Given the description of an element on the screen output the (x, y) to click on. 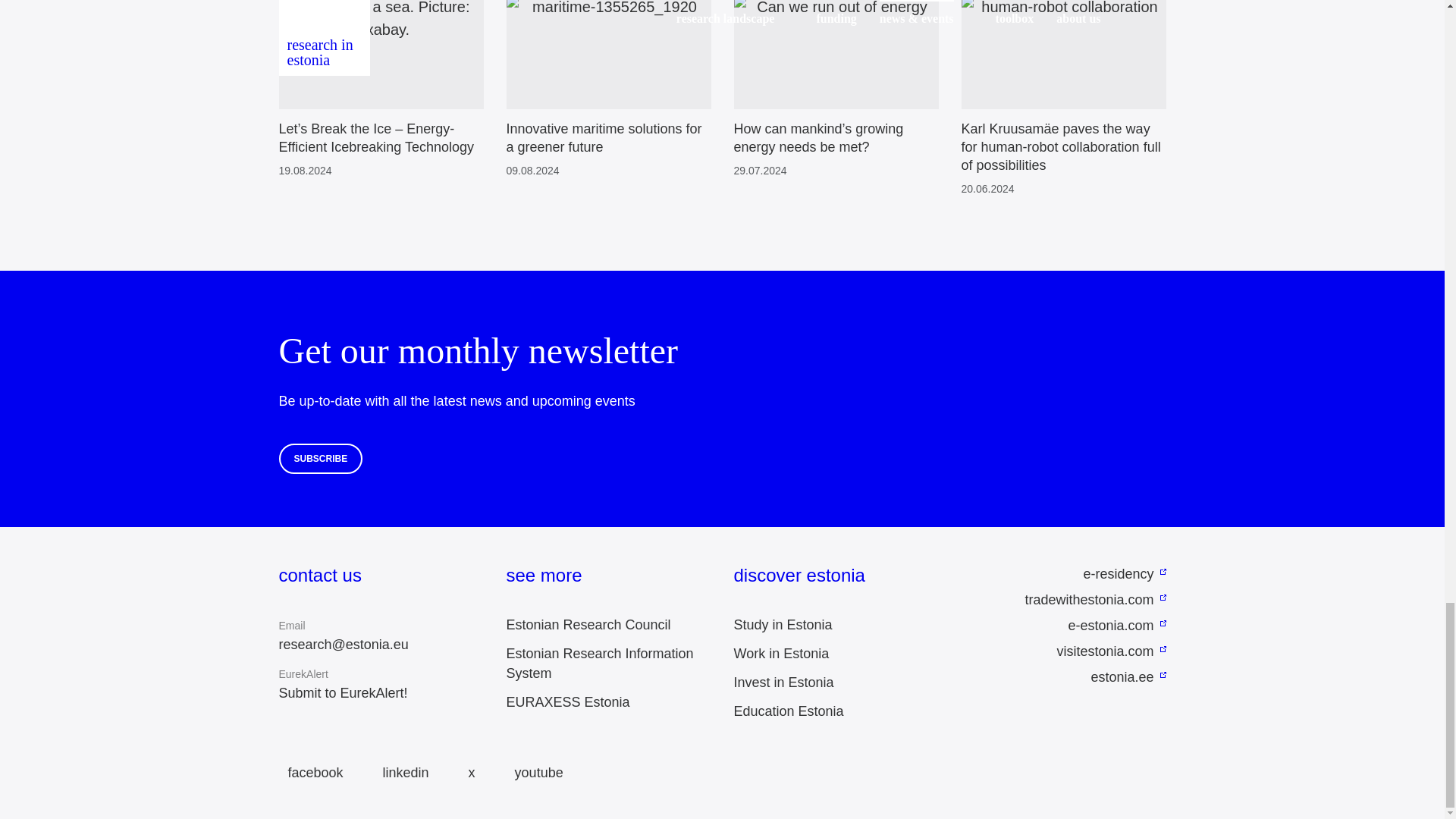
Facebook (311, 772)
EURAXESS Estonia (568, 702)
Youtube (534, 772)
Estonian Research Council (588, 624)
Submit to EurekAlert! (343, 693)
LinkedIn (401, 772)
Study in Estonia (782, 624)
Estonian Research Information System (600, 663)
Work in Estonia (781, 653)
